Given the description of an element on the screen output the (x, y) to click on. 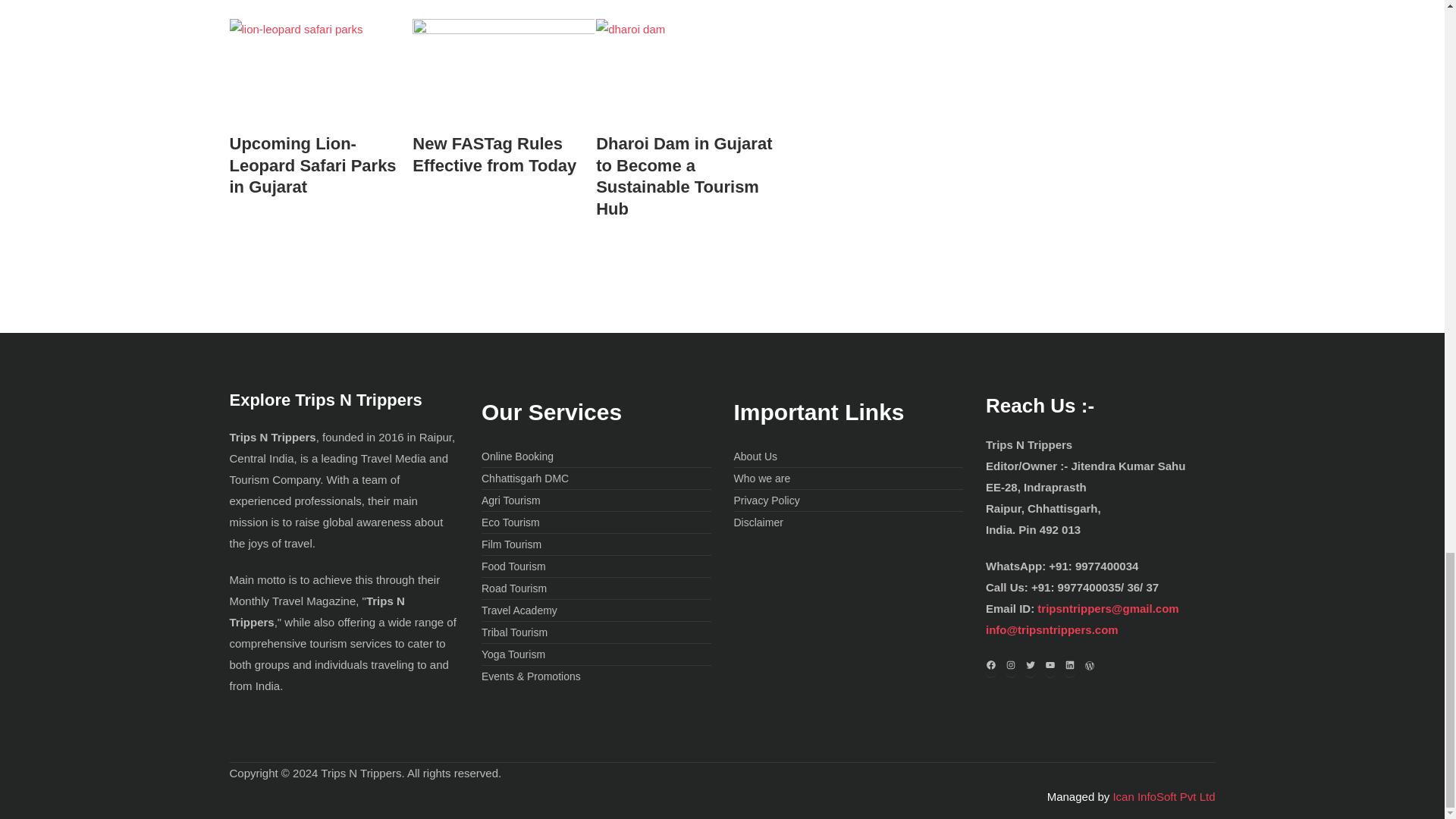
New FASTag Rules Effective from Today (503, 154)
Upcoming Lion-Leopard Safari Parks in Gujarat (319, 166)
Dharoi Dam in Gujarat to Become a Sustainable Tourism Hub (686, 176)
